Given the description of an element on the screen output the (x, y) to click on. 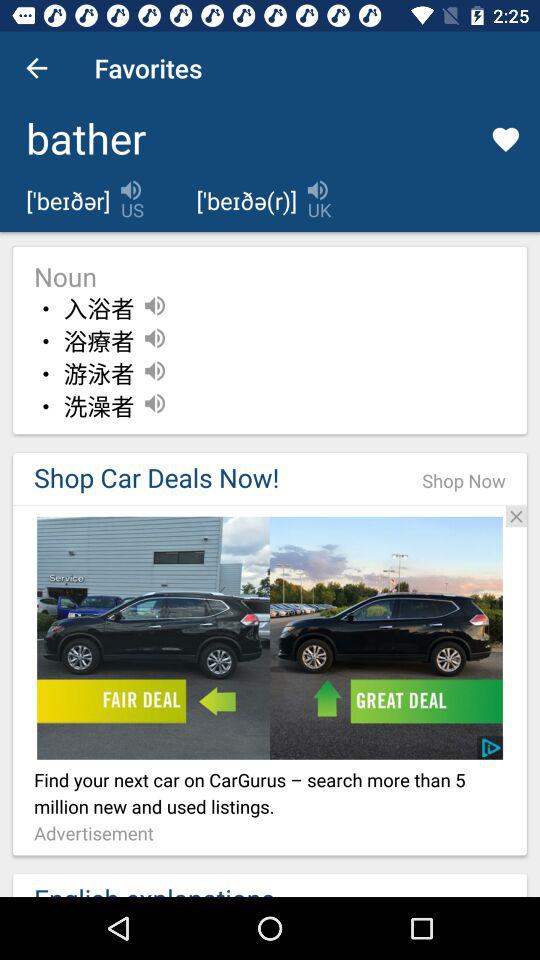
jump to the shop car deals icon (207, 478)
